Given the description of an element on the screen output the (x, y) to click on. 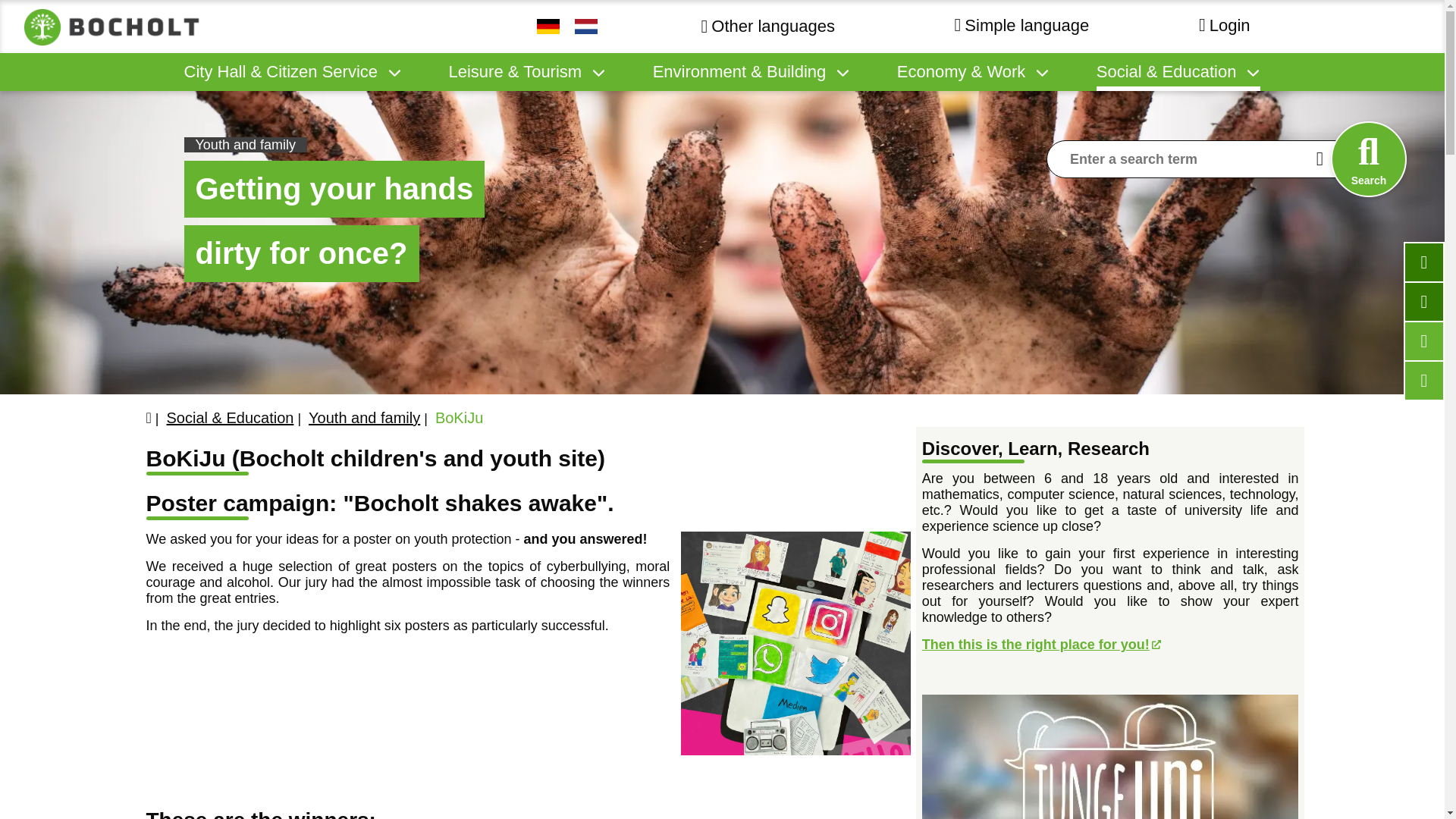
Stadt Bocholt (114, 26)
Simple language (1022, 25)
Young Uni (1109, 756)
Login (1224, 25)
Other languages (770, 25)
Collapse search box (1368, 159)
